Given the description of an element on the screen output the (x, y) to click on. 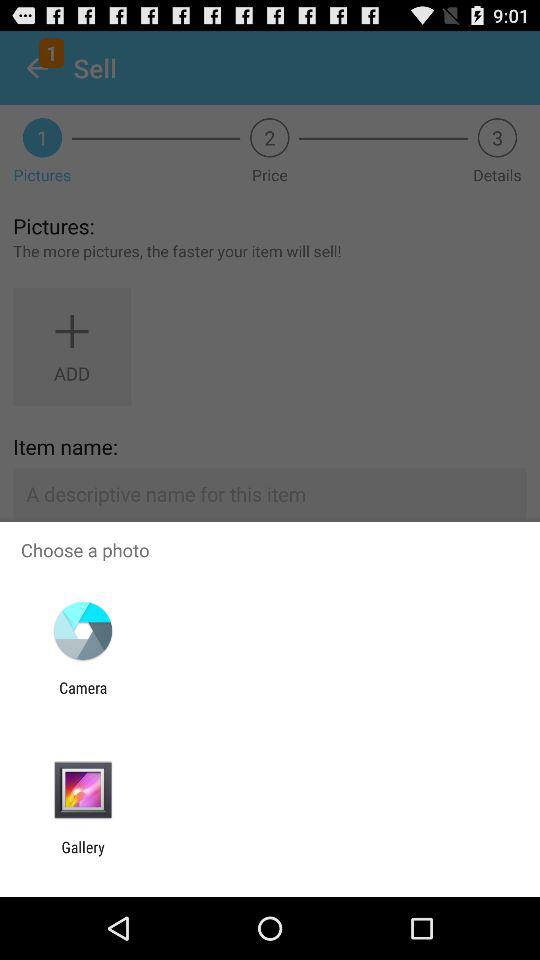
swipe until the gallery app (83, 856)
